Given the description of an element on the screen output the (x, y) to click on. 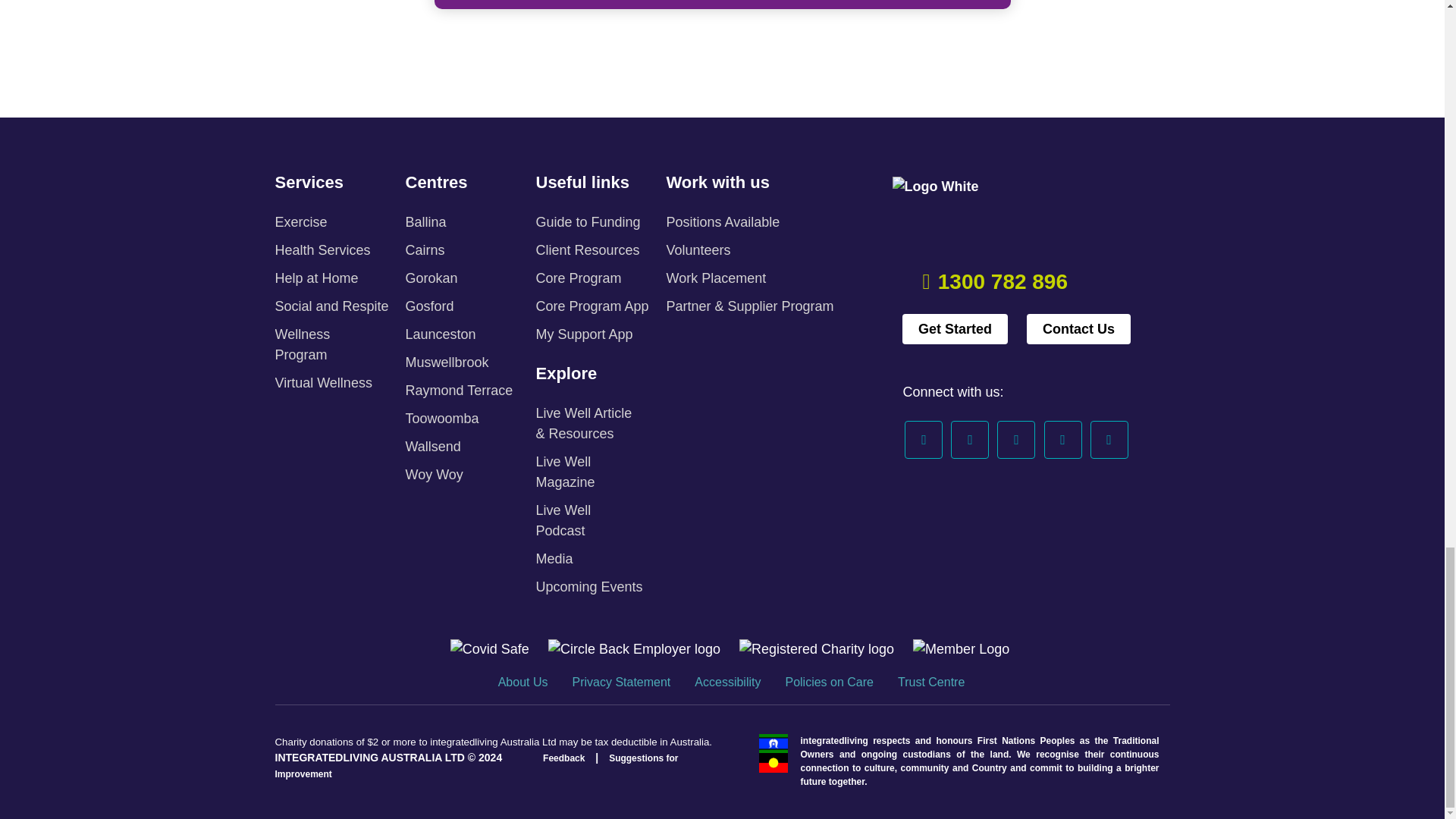
footer number (1002, 281)
